Given the description of an element on the screen output the (x, y) to click on. 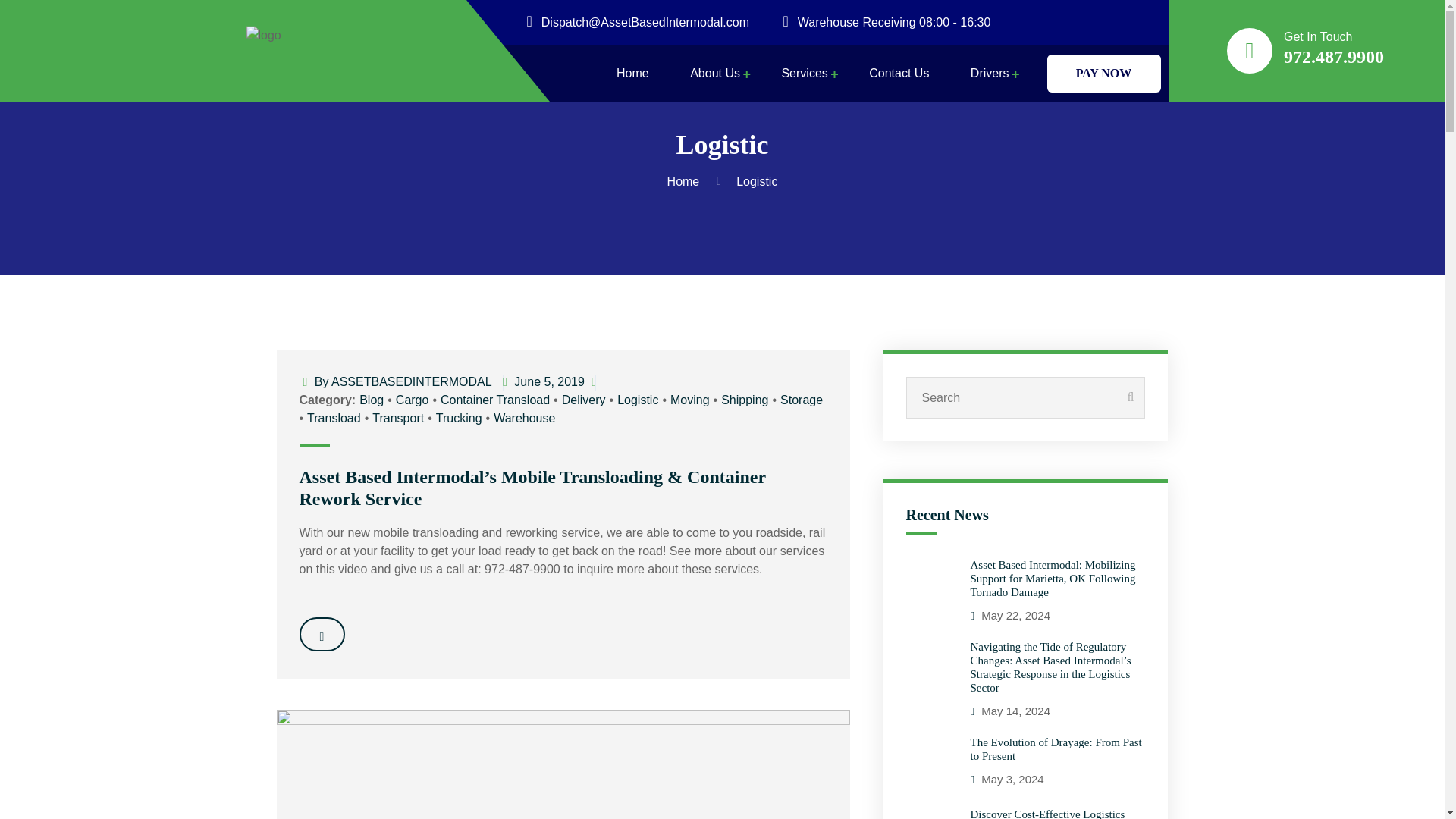
PAY NOW (1103, 73)
Drivers (990, 84)
Driver Application (1065, 116)
972.487.9900 (1334, 56)
Customer Resources (784, 116)
Home   (686, 181)
Driver Application (1065, 116)
About Us (714, 84)
Customer Resources (784, 116)
Cargo (412, 400)
